Given the description of an element on the screen output the (x, y) to click on. 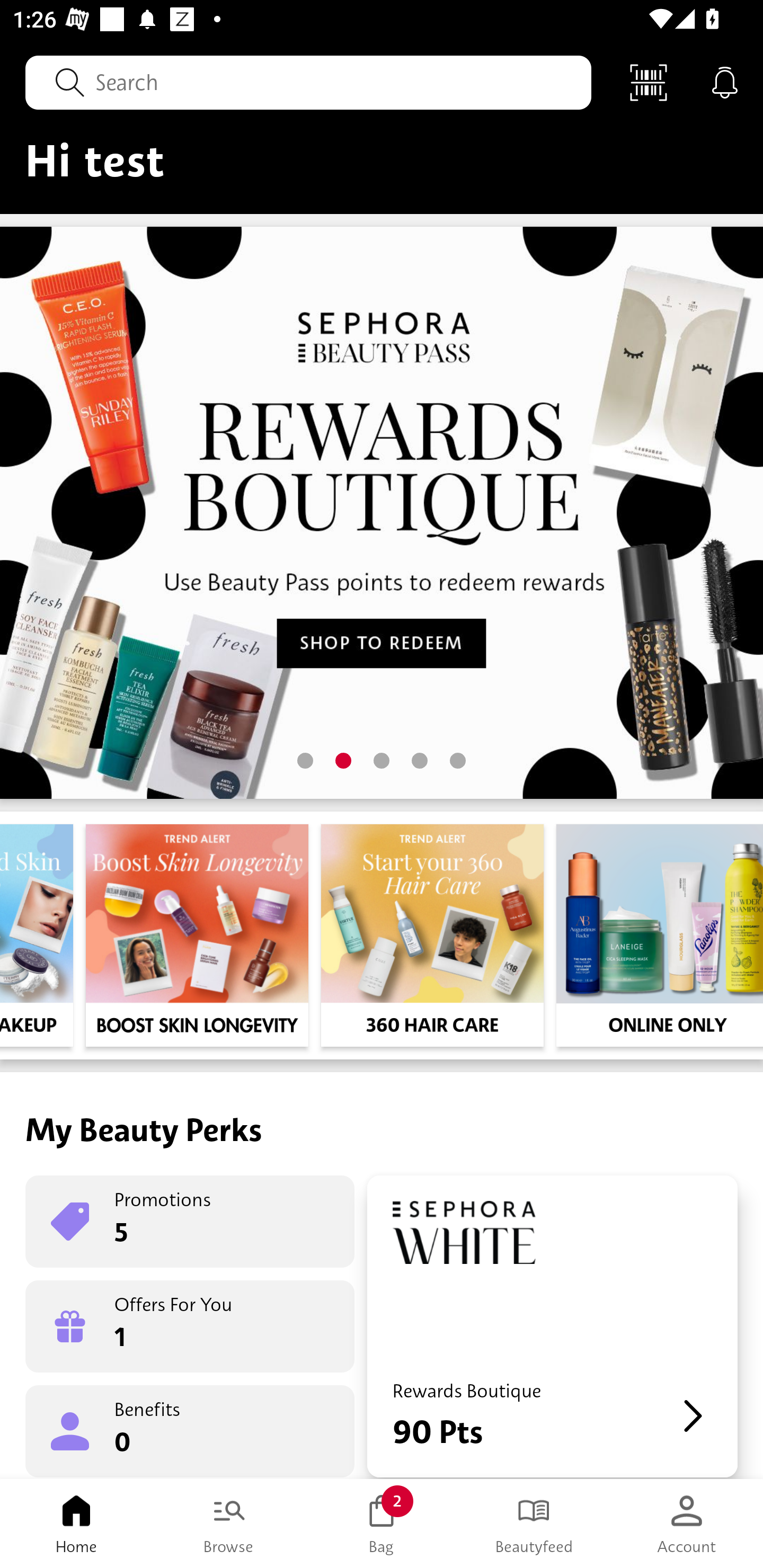
Scan Code (648, 81)
Notifications (724, 81)
Search (308, 81)
Promotions 5 (189, 1221)
Rewards Boutique 90 Pts (552, 1326)
Offers For You 1 (189, 1326)
Benefits 0 (189, 1430)
Browse (228, 1523)
Bag 2 Bag (381, 1523)
Beautyfeed (533, 1523)
Account (686, 1523)
